Given the description of an element on the screen output the (x, y) to click on. 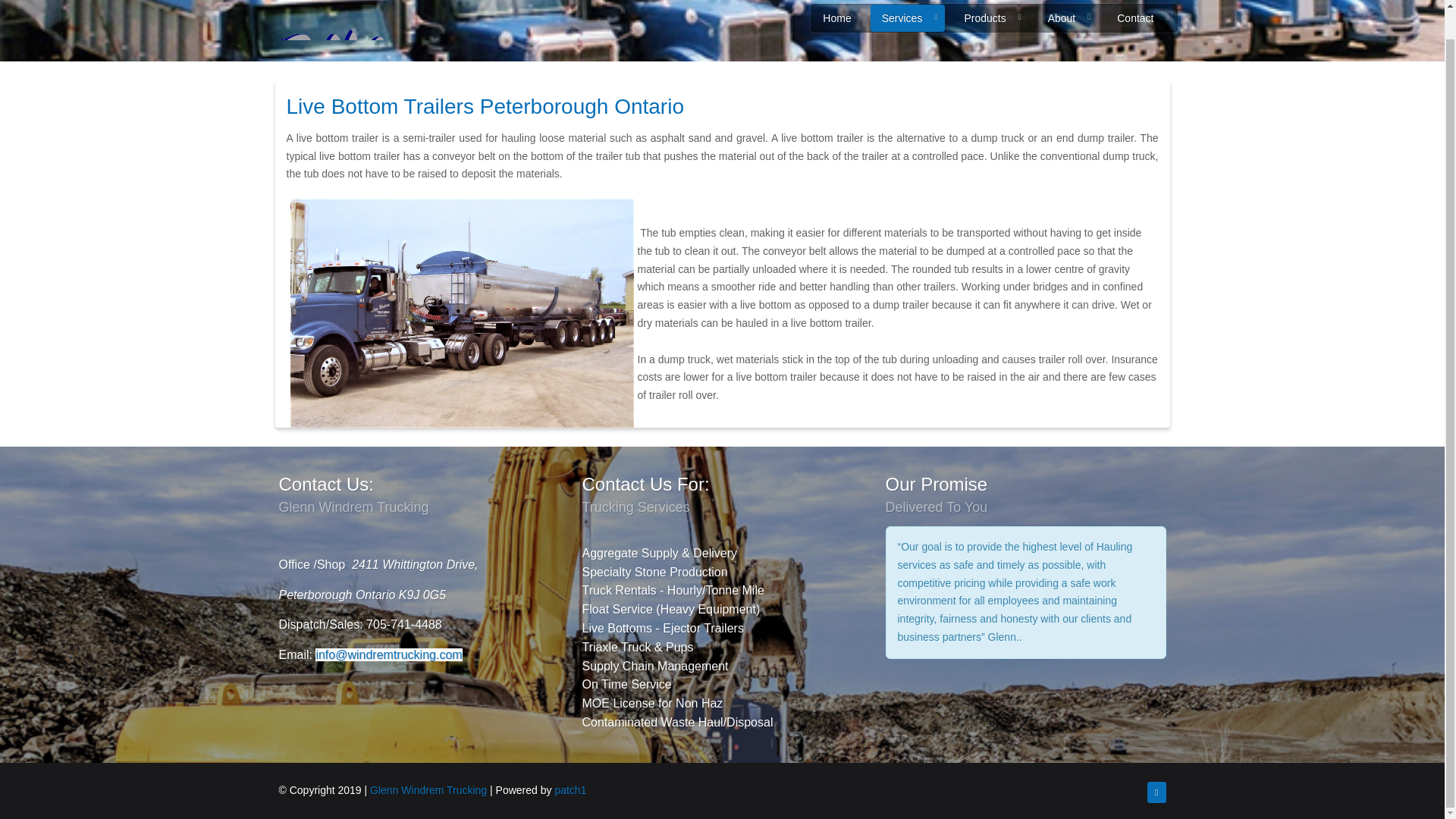
patch1 (570, 789)
Home (835, 17)
About (1067, 17)
Contact (1140, 17)
Live Bottom Trailers Peterborough Ontario (485, 106)
Glenn Windrem Trucking (427, 789)
Products (989, 17)
Services (907, 17)
